Given the description of an element on the screen output the (x, y) to click on. 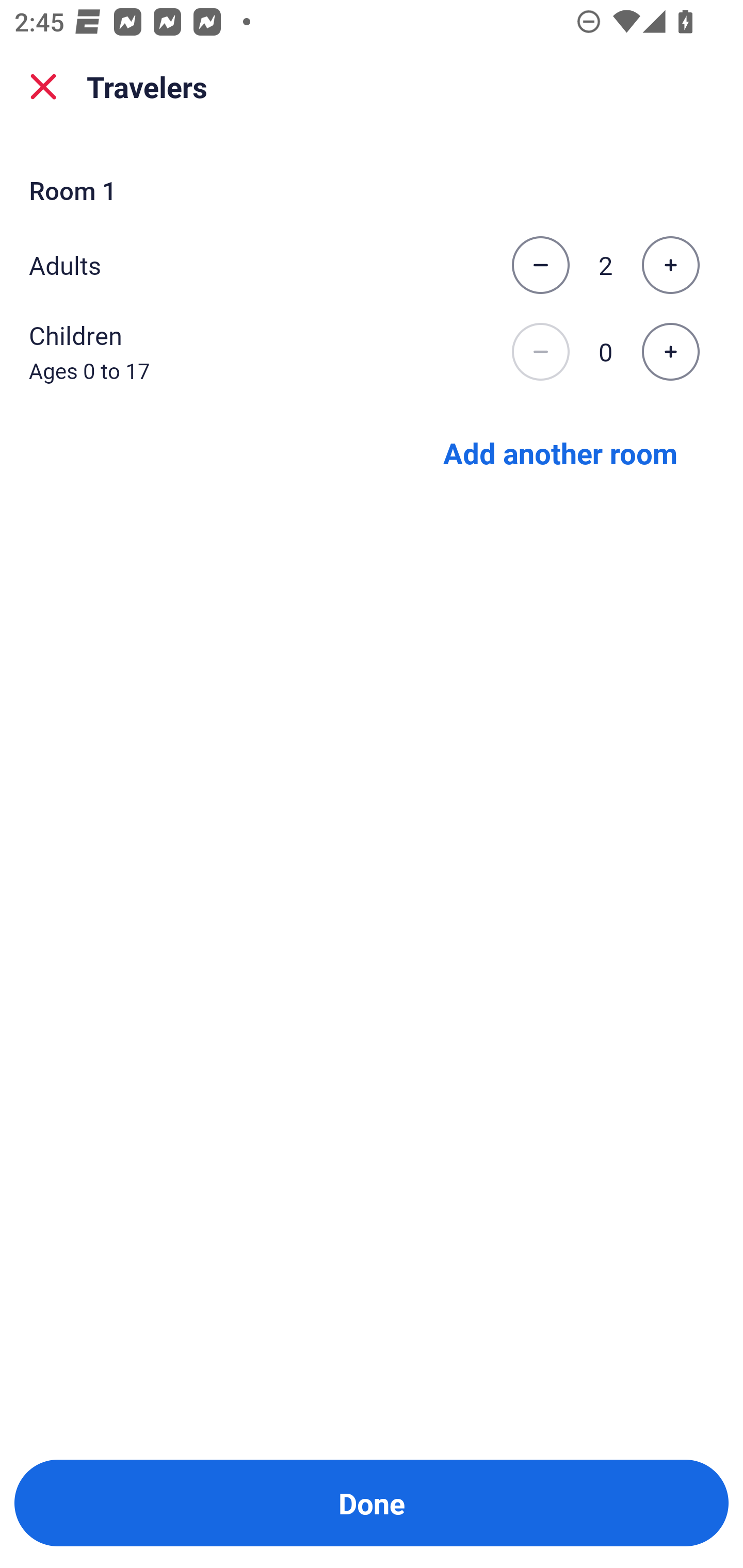
close (43, 86)
Decrease the number of adults (540, 264)
Increase the number of adults (670, 264)
Decrease the number of children (540, 351)
Increase the number of children (670, 351)
Add another room (560, 452)
Done (371, 1502)
